Given the description of an element on the screen output the (x, y) to click on. 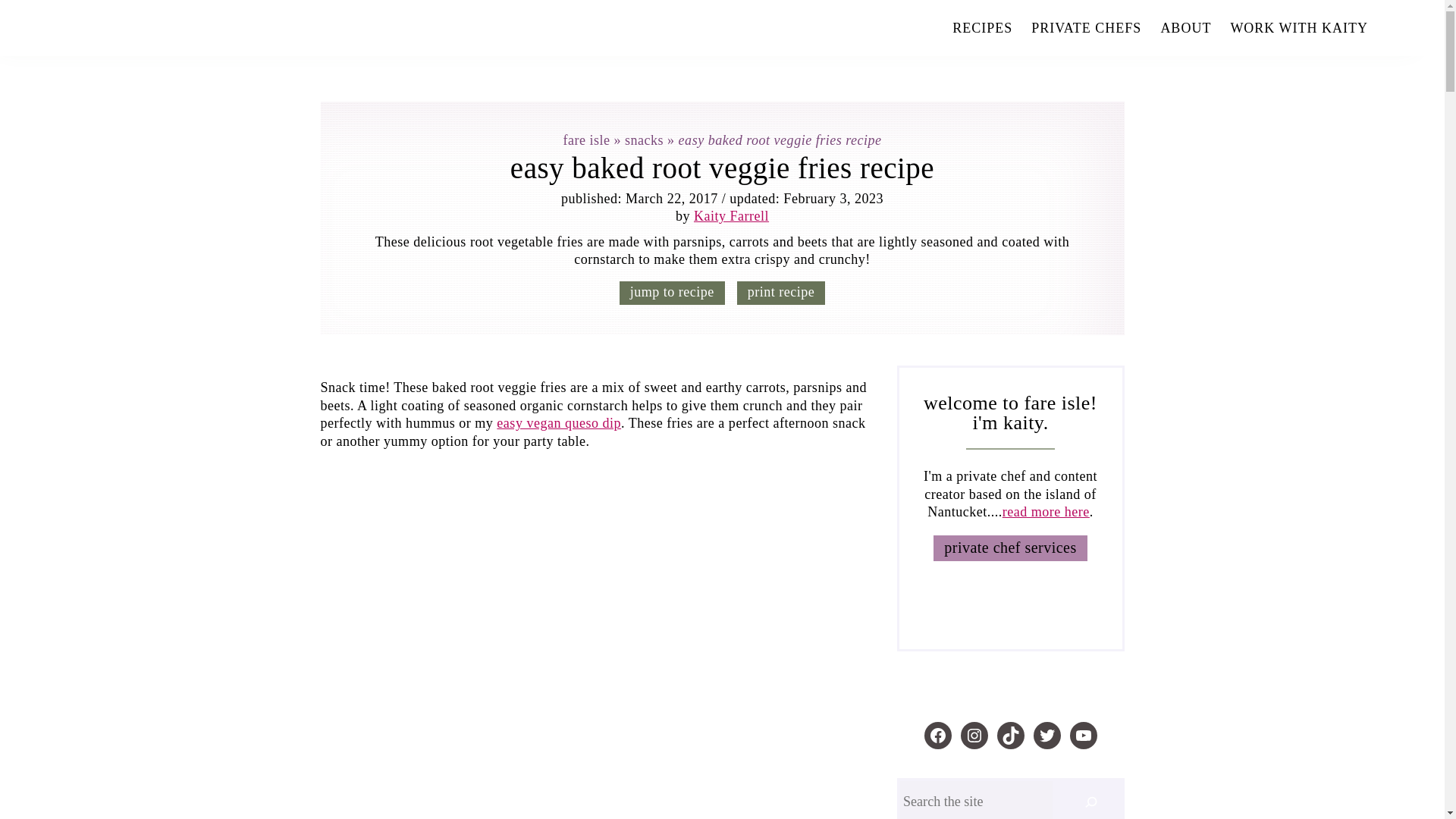
fare isle (586, 140)
jump to recipe (672, 292)
PRIVATE CHEFS (1085, 28)
RECIPES (981, 28)
print recipe (780, 292)
Fare Isle (301, 26)
WORK WITH KAITY (1299, 28)
easy vegan queso dip (558, 422)
ABOUT (1185, 28)
Kaity Farrell (731, 215)
snacks (643, 140)
